Given the description of an element on the screen output the (x, y) to click on. 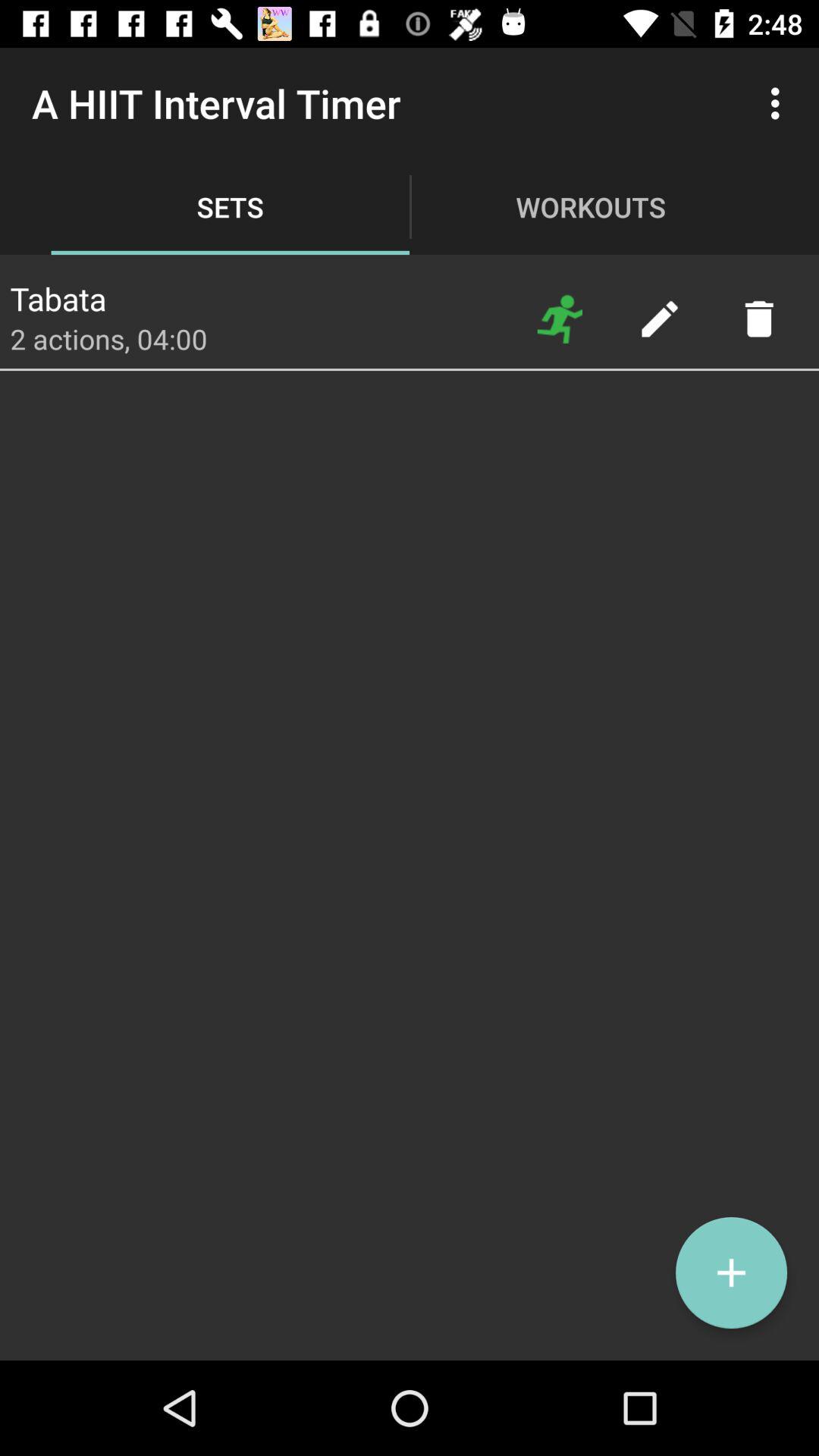
open tabata icon (58, 294)
